Given the description of an element on the screen output the (x, y) to click on. 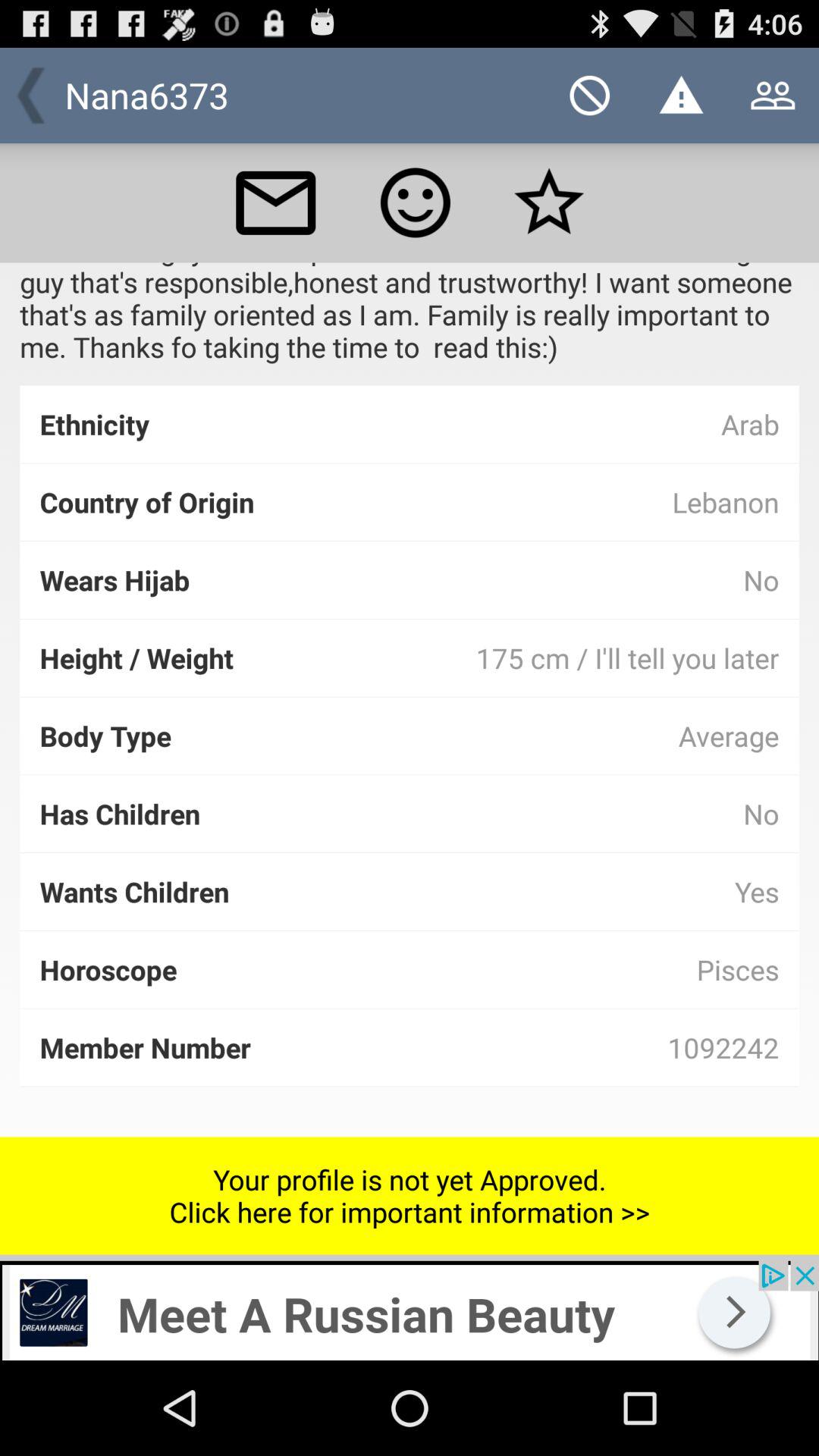
advertisement page (409, 1310)
